Given the description of an element on the screen output the (x, y) to click on. 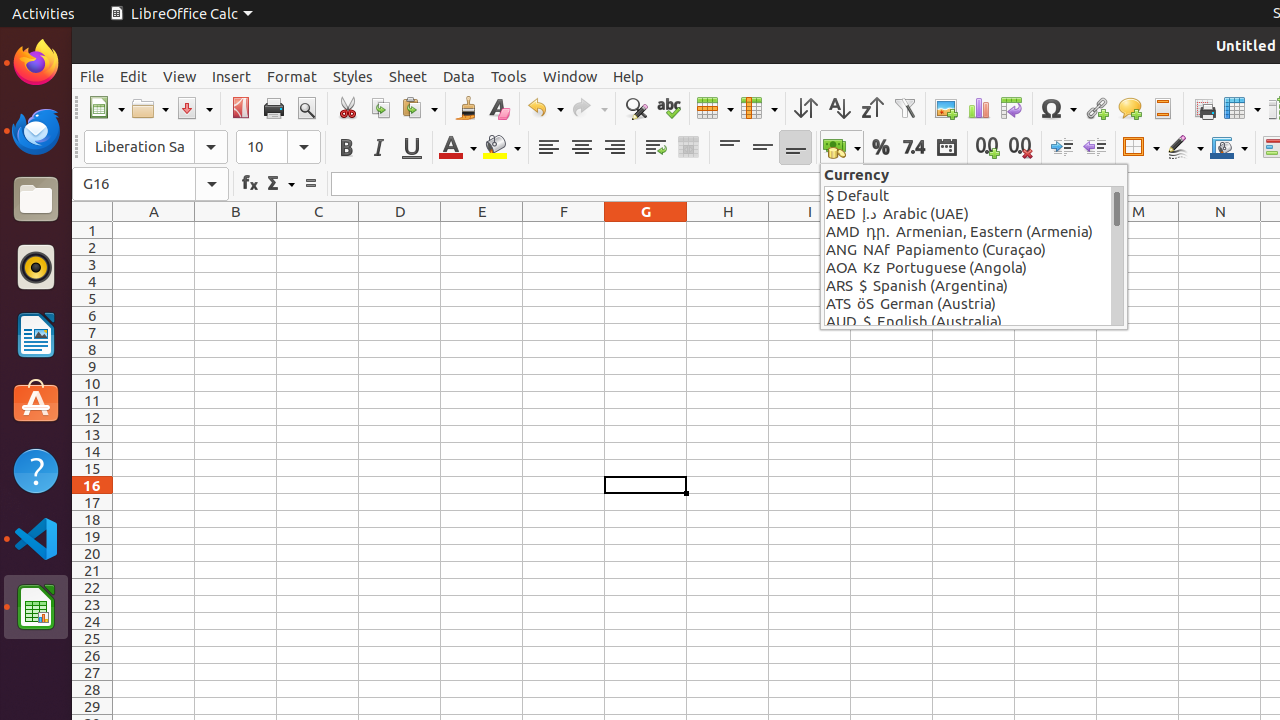
Ubuntu Software Element type: push-button (36, 402)
Comment Element type: push-button (1129, 108)
Clear Element type: push-button (498, 108)
New Element type: push-button (106, 108)
Print Preview Element type: toggle-button (306, 108)
